Given the description of an element on the screen output the (x, y) to click on. 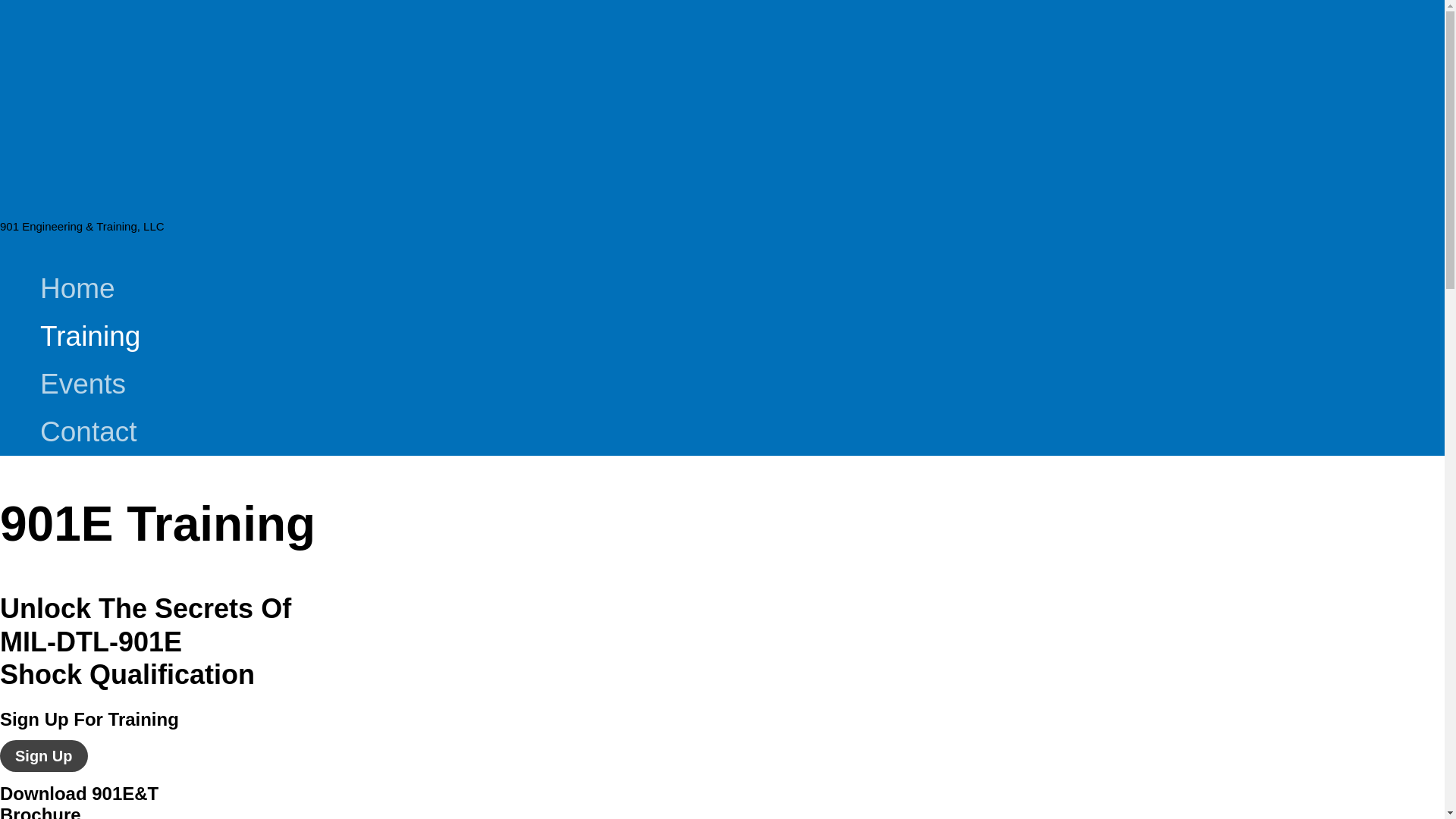
Home (89, 288)
Contact (89, 431)
Sign Up (43, 756)
Training (89, 336)
Events (89, 383)
